Given the description of an element on the screen output the (x, y) to click on. 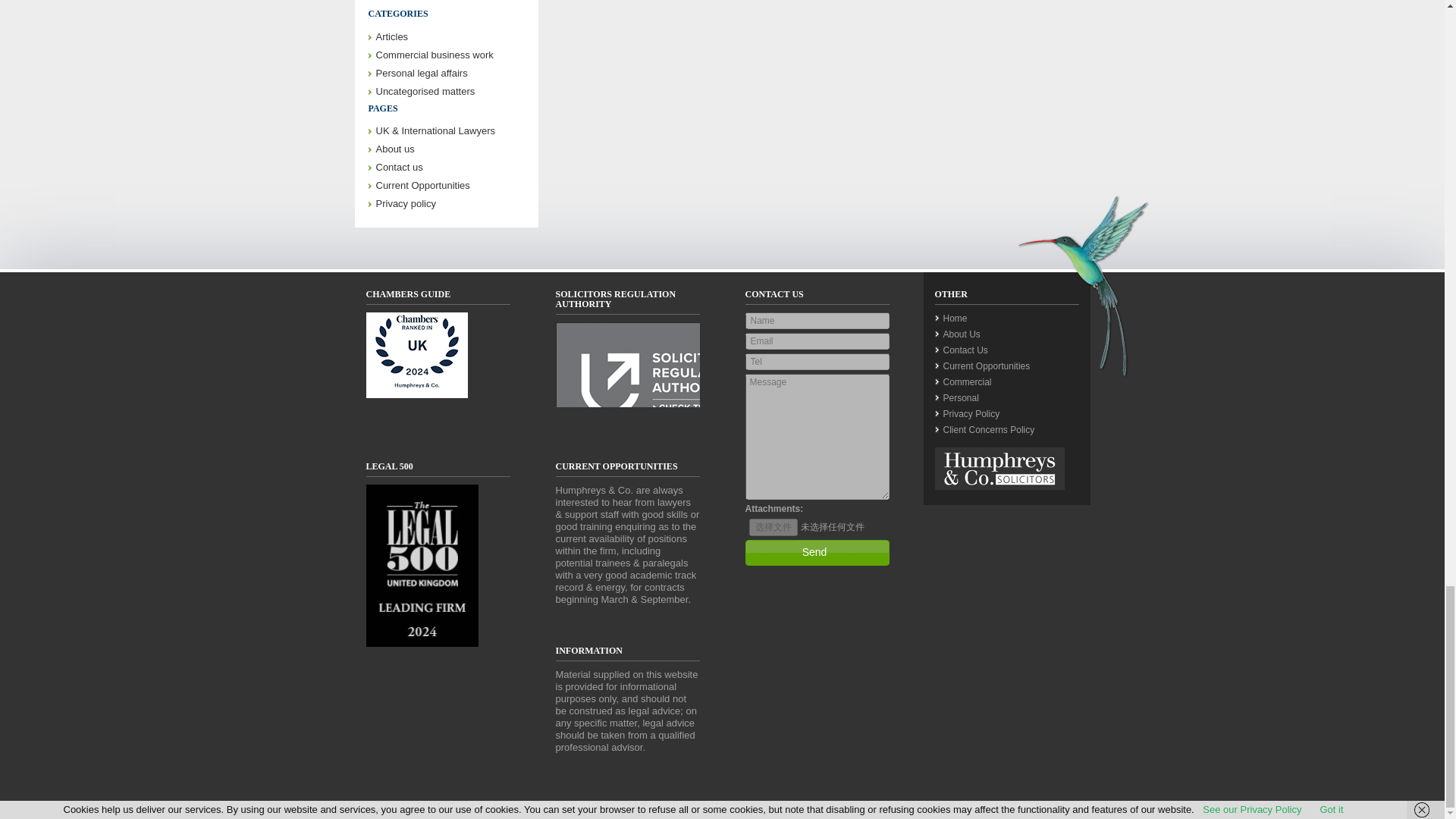
Send (816, 552)
